Given the description of an element on the screen output the (x, y) to click on. 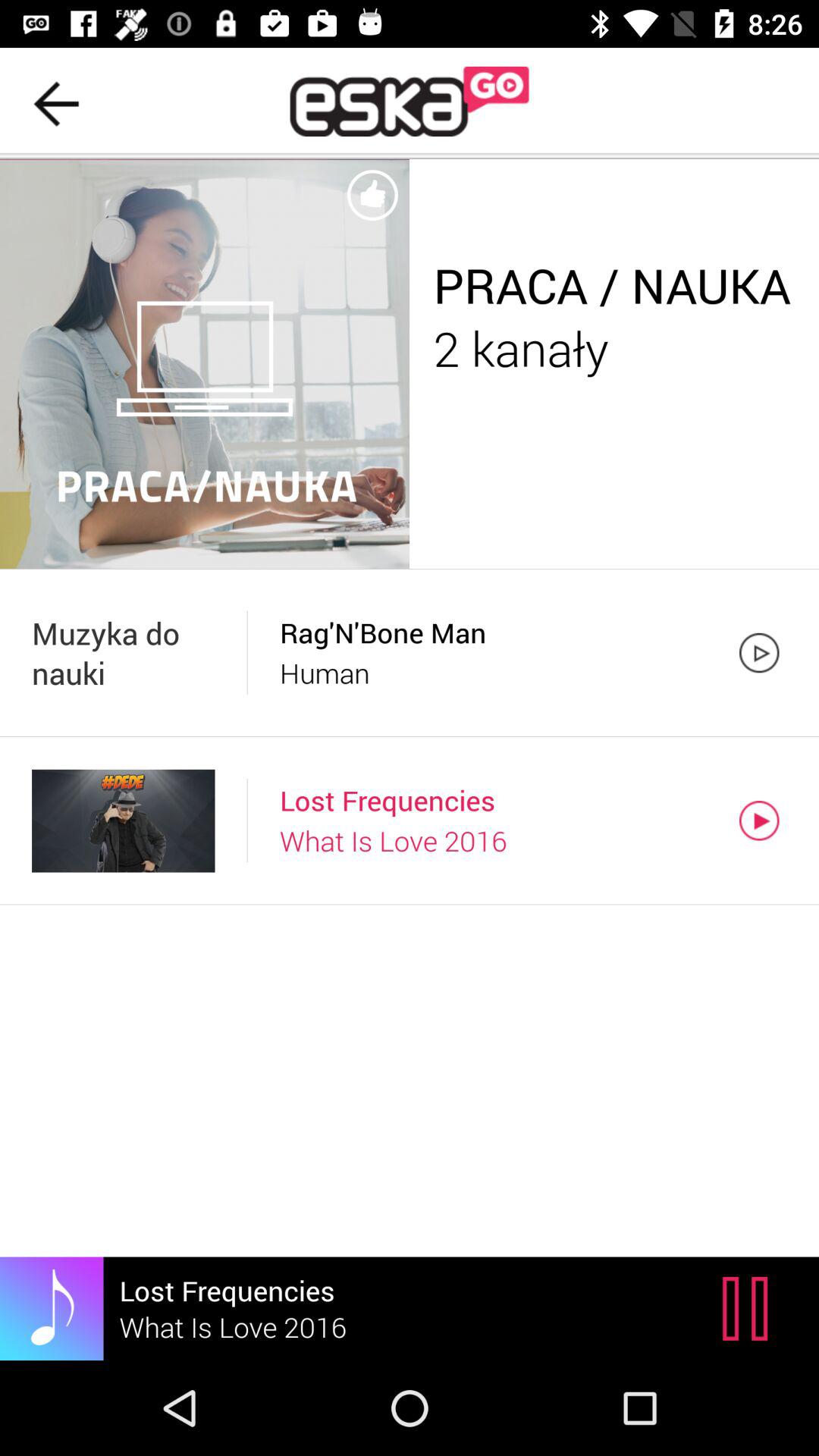
tap item below what is love item (749, 1308)
